Given the description of an element on the screen output the (x, y) to click on. 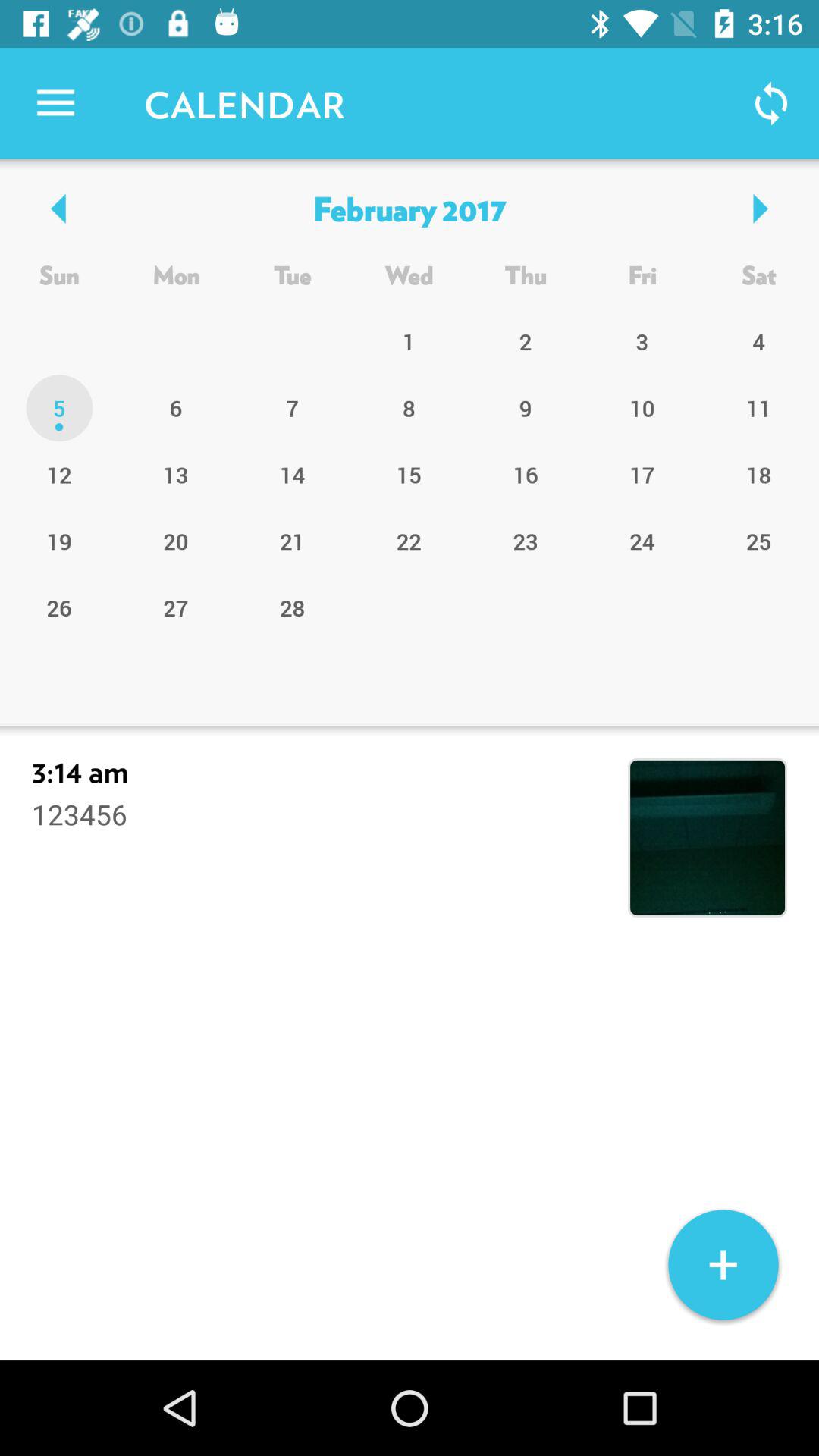
launch the icon to the left of the 6 item (59, 474)
